Given the description of an element on the screen output the (x, y) to click on. 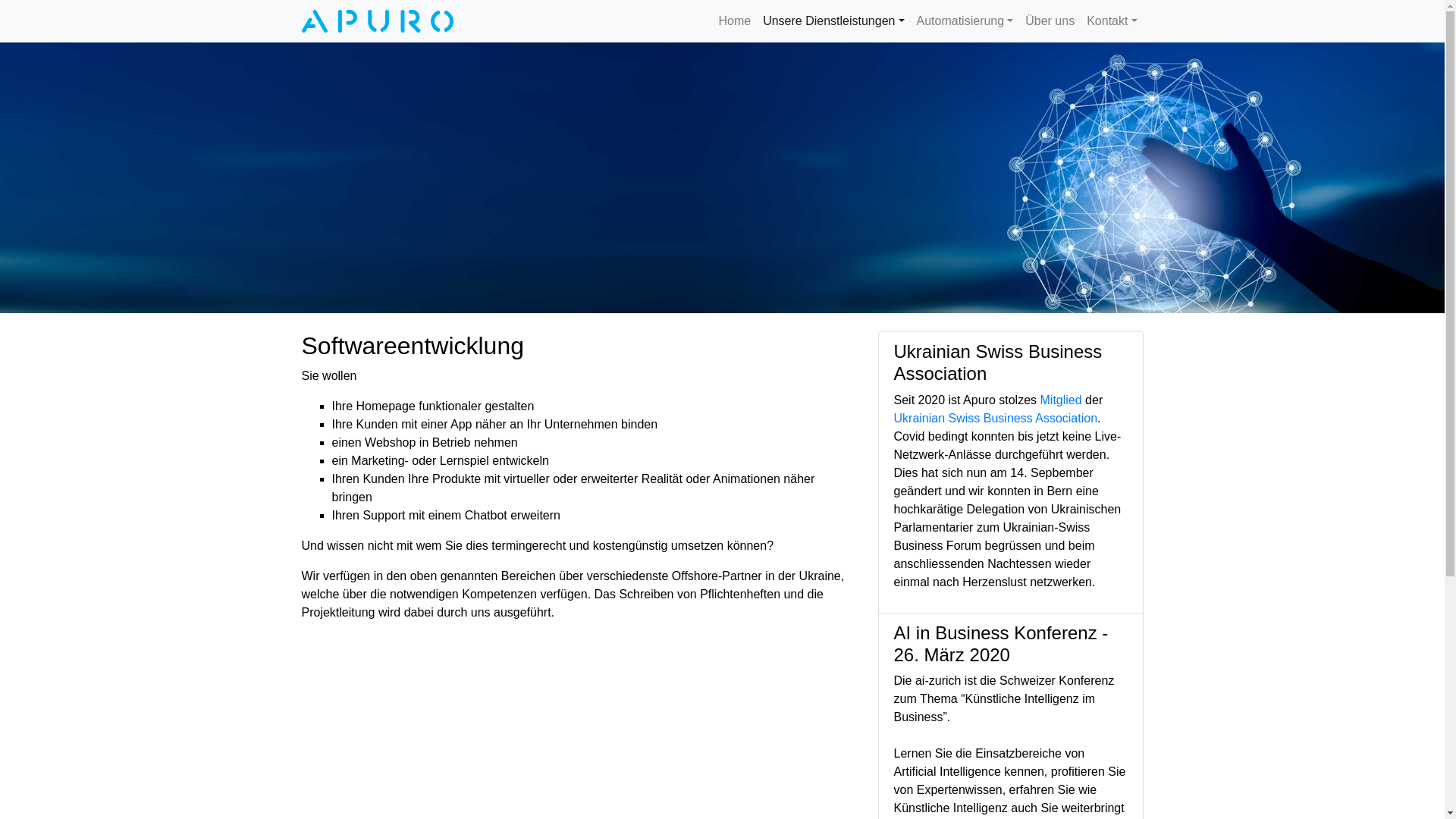
Mitglied Element type: text (1061, 399)
Ukrainian Swiss Business Association Element type: text (995, 417)
Kontakt Element type: text (1111, 21)
Home Element type: text (734, 21)
Automatisierung Element type: text (964, 21)
Unsere Dienstleistungen Element type: text (833, 21)
